Given the description of an element on the screen output the (x, y) to click on. 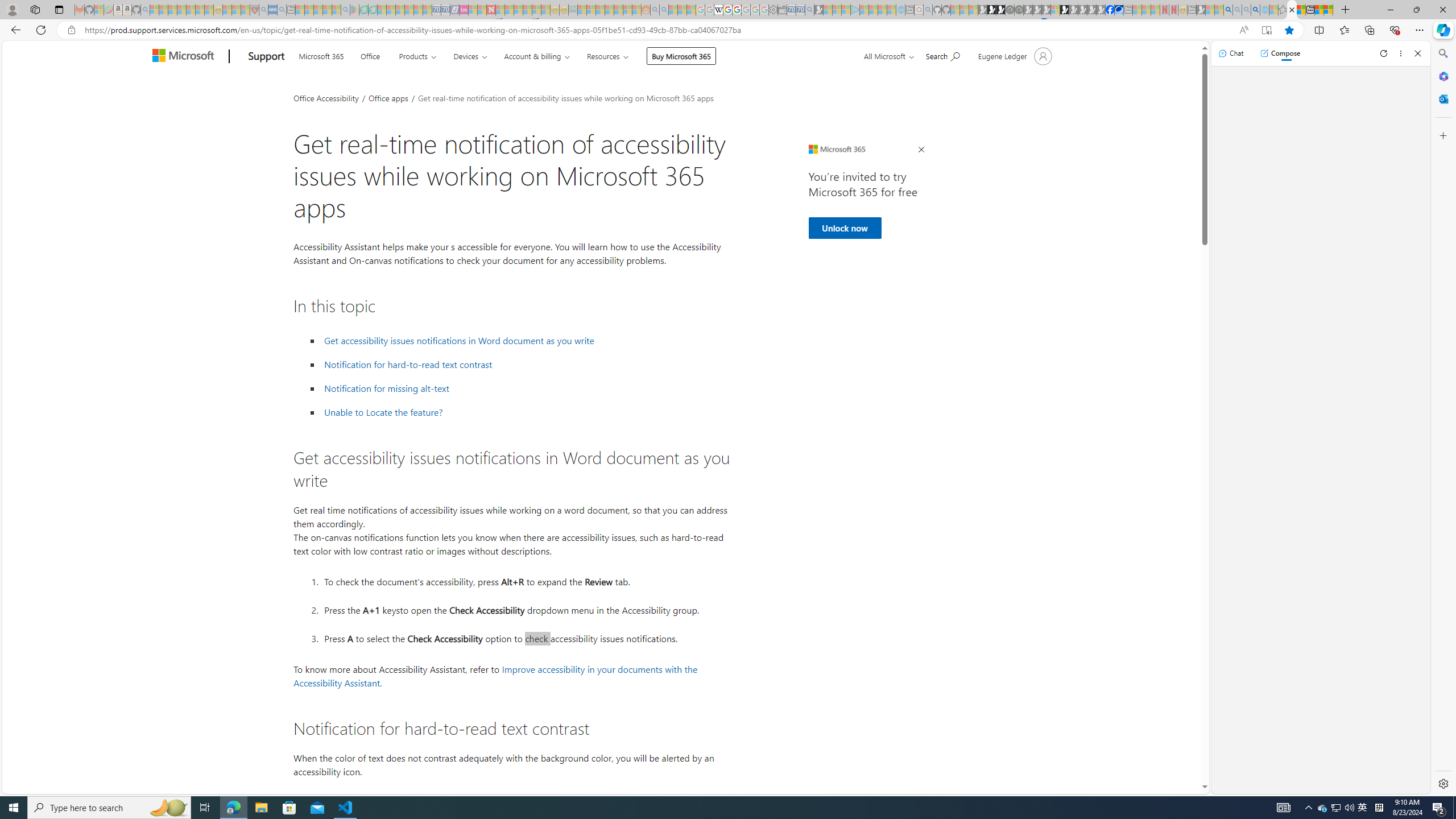
Close Ad (920, 149)
 Notification for missing alt-text (386, 388)
Google Chrome Internet Browser Download - Search Images (1255, 9)
Unable to Locate the feature? (525, 412)
